Given the description of an element on the screen output the (x, y) to click on. 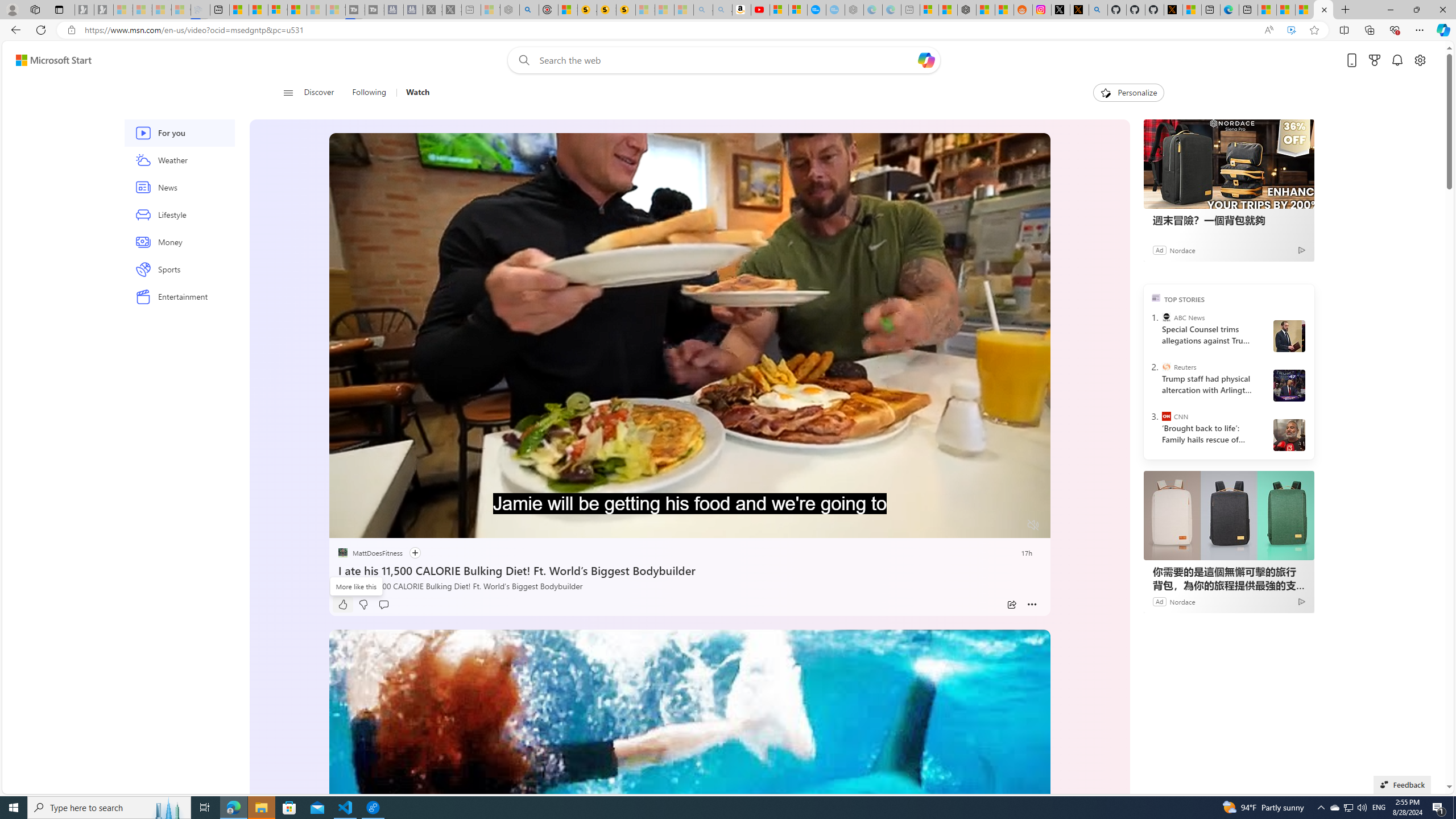
Share (1010, 604)
Class: button-glyph (287, 92)
Watch (417, 92)
Feedback (1402, 784)
